Given the description of an element on the screen output the (x, y) to click on. 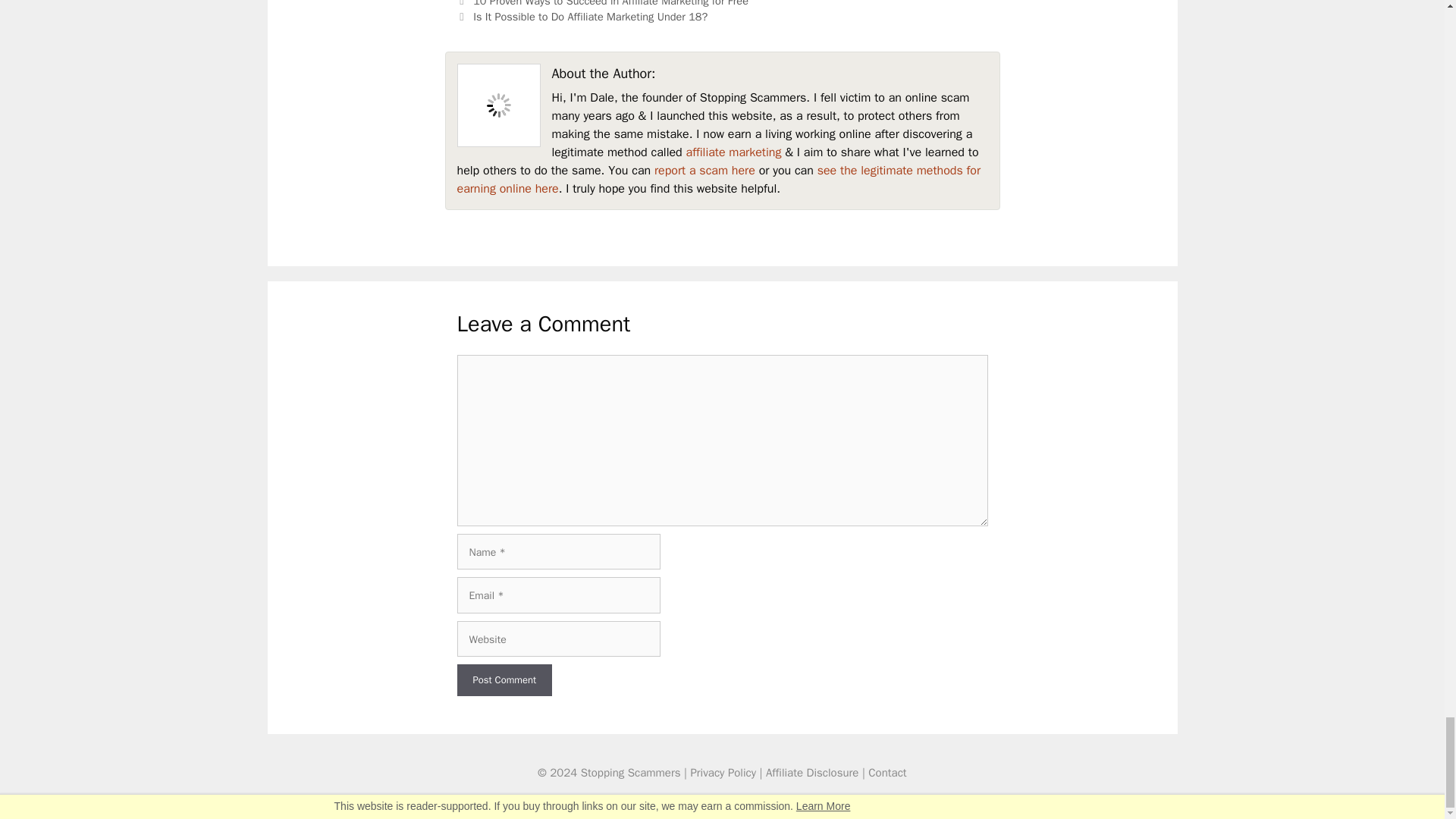
report a scam here (704, 170)
10 Proven Ways to Succeed in Affiliate Marketing for Free (610, 3)
Post Comment (504, 680)
see the legitimate methods for earning online here (718, 179)
affiliate marketing (732, 151)
Is It Possible to Do Affiliate Marketing Under 18? (590, 16)
